Given the description of an element on the screen output the (x, y) to click on. 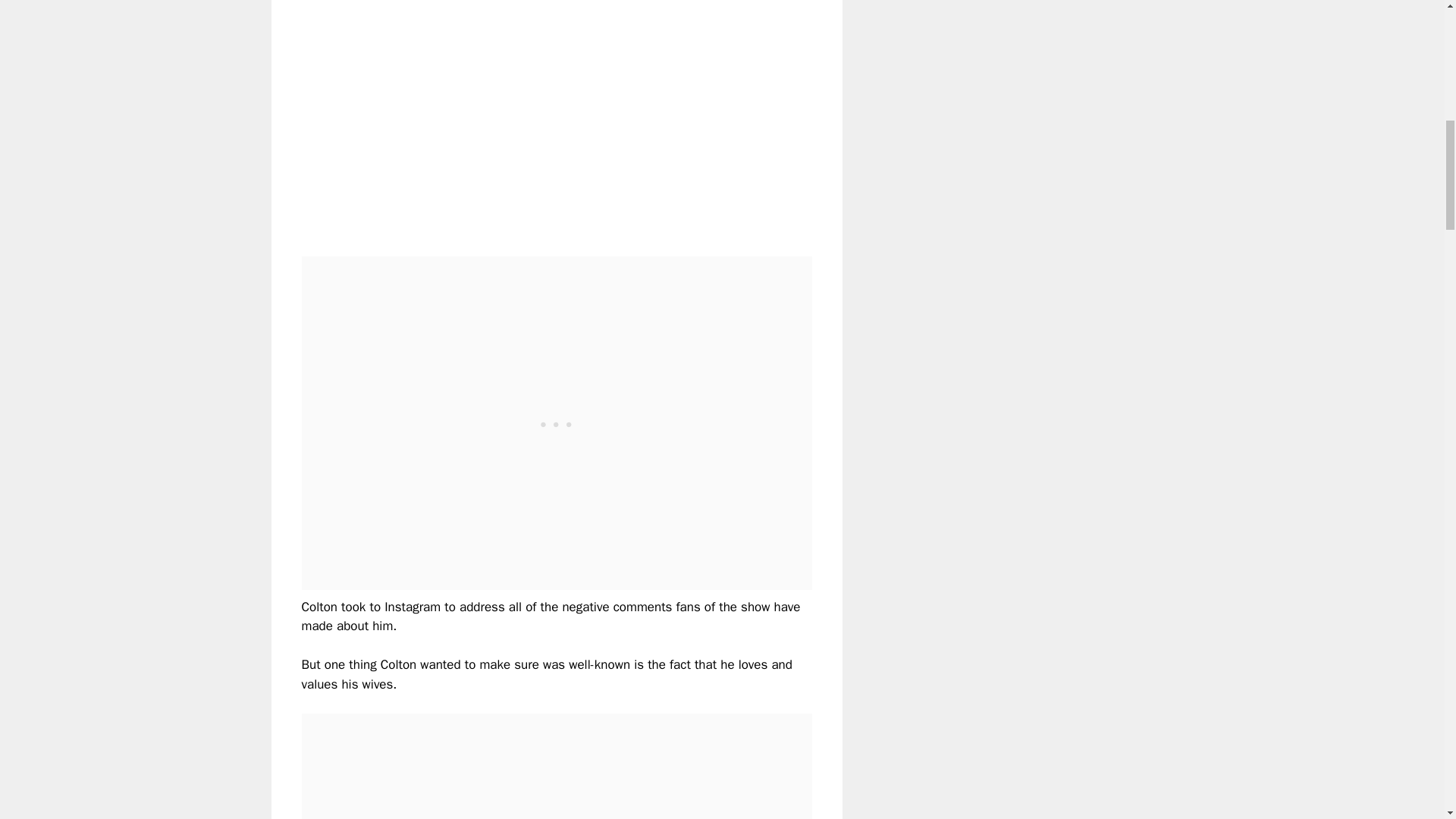
YouTube video player (513, 115)
